Given the description of an element on the screen output the (x, y) to click on. 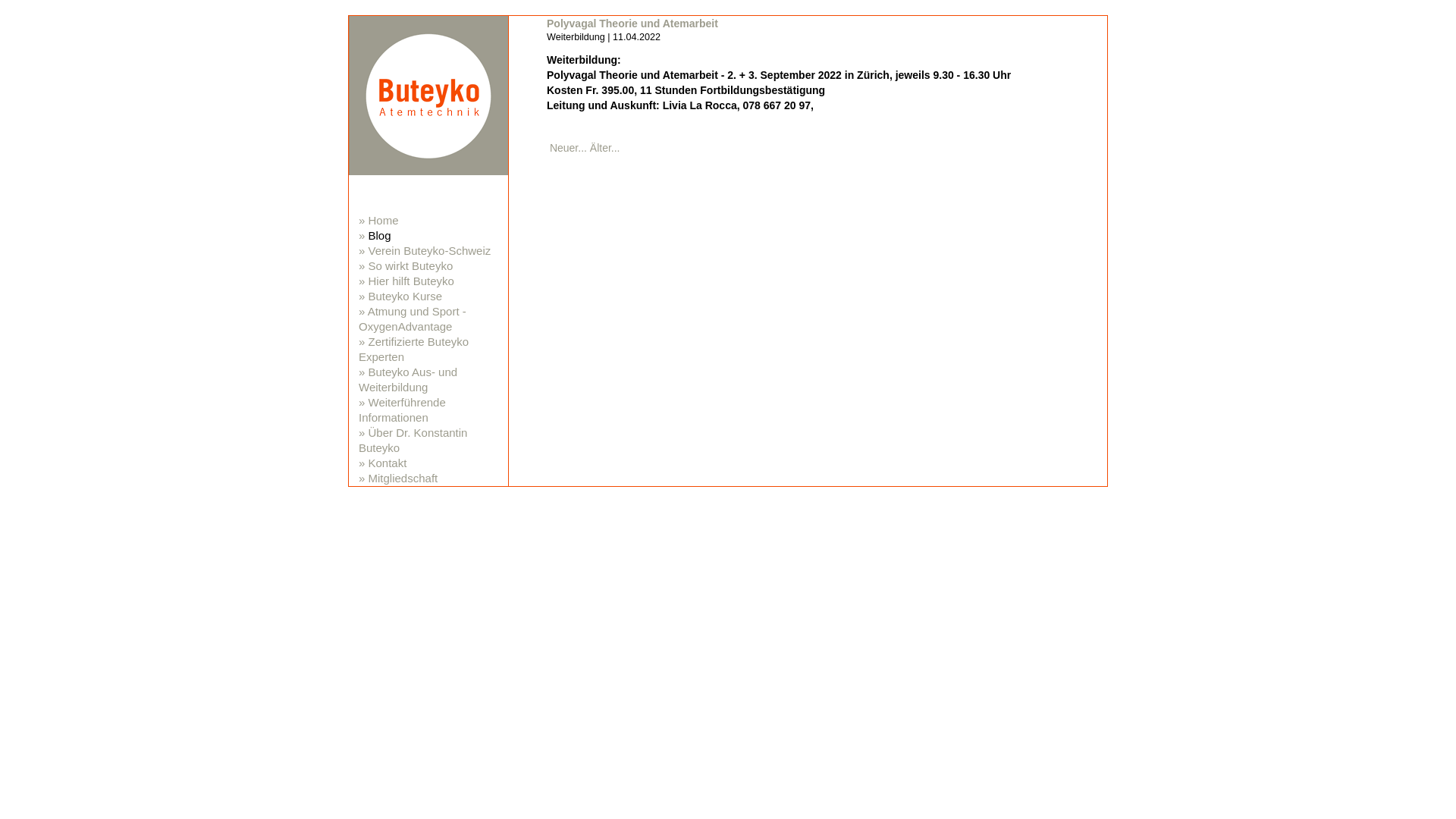
Polyvagal Theorie und Atemarbeit Element type: text (632, 23)
Hier hilft Buteyko Element type: text (411, 280)
Atmung und Sport - OxygenAdvantage Element type: text (412, 318)
So wirkt Buteyko Element type: text (410, 265)
Buteyko Aus- und Weiterbildung Element type: text (407, 379)
Mitgliedschaft Element type: text (403, 477)
Kontakt Element type: text (387, 462)
Home Element type: text (383, 219)
Verein Buteyko-Schweiz Element type: text (429, 250)
Neuer... Element type: text (567, 147)
Blog Element type: text (379, 235)
Zertifizierte Buteyko Experten Element type: text (413, 349)
Buteyko Kurse Element type: text (405, 295)
